Given the description of an element on the screen output the (x, y) to click on. 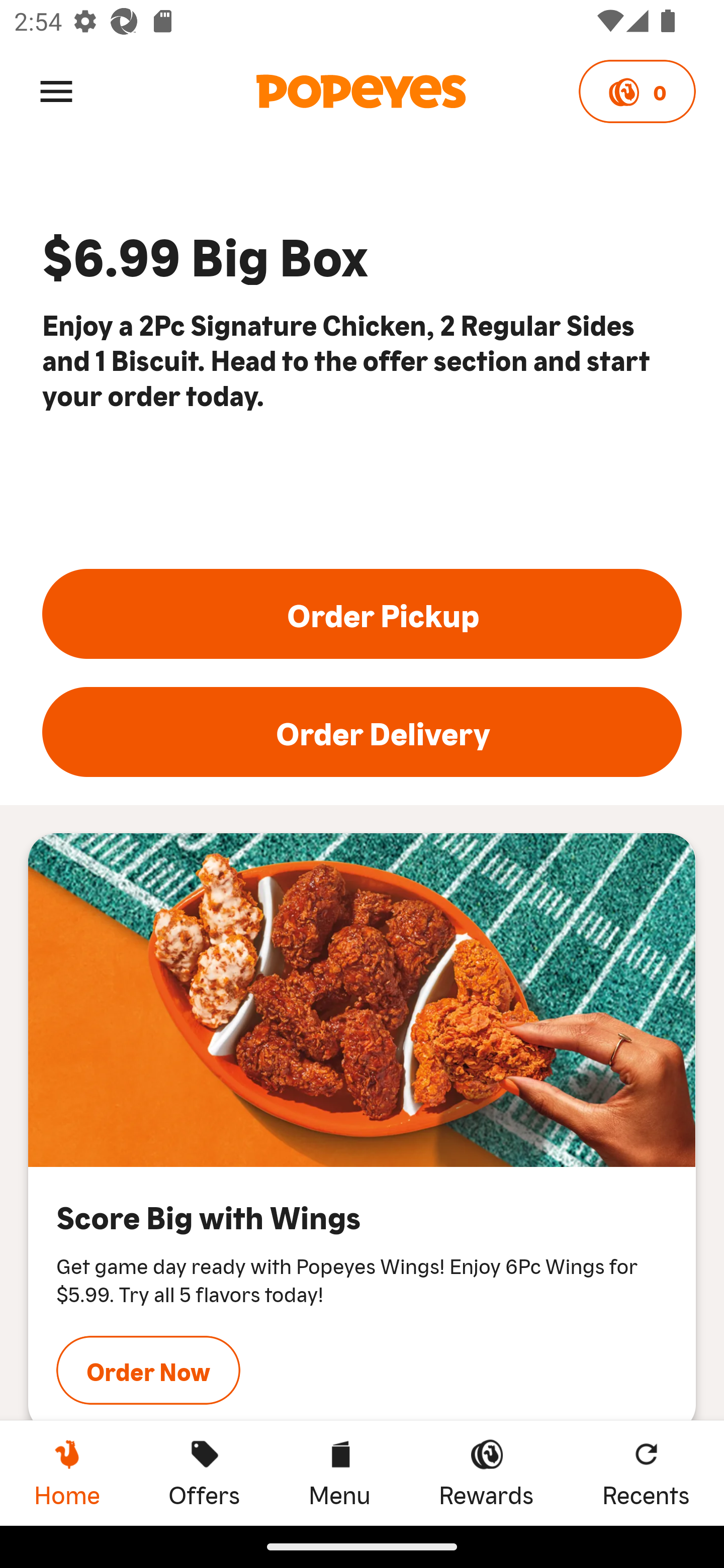
Menu  (56, 90)
0 Points 0 (636, 91)
Order Pickup (361, 613)
Order Delivery (361, 731)
Score Big with Wings (361, 999)
Order Now (148, 1369)
Home, current page Home Home, current page (66, 1472)
Offers Offers Offers (203, 1472)
Menu Menu Menu (339, 1472)
Rewards Rewards Rewards (486, 1472)
Recents Recents Recents (646, 1472)
